Given the description of an element on the screen output the (x, y) to click on. 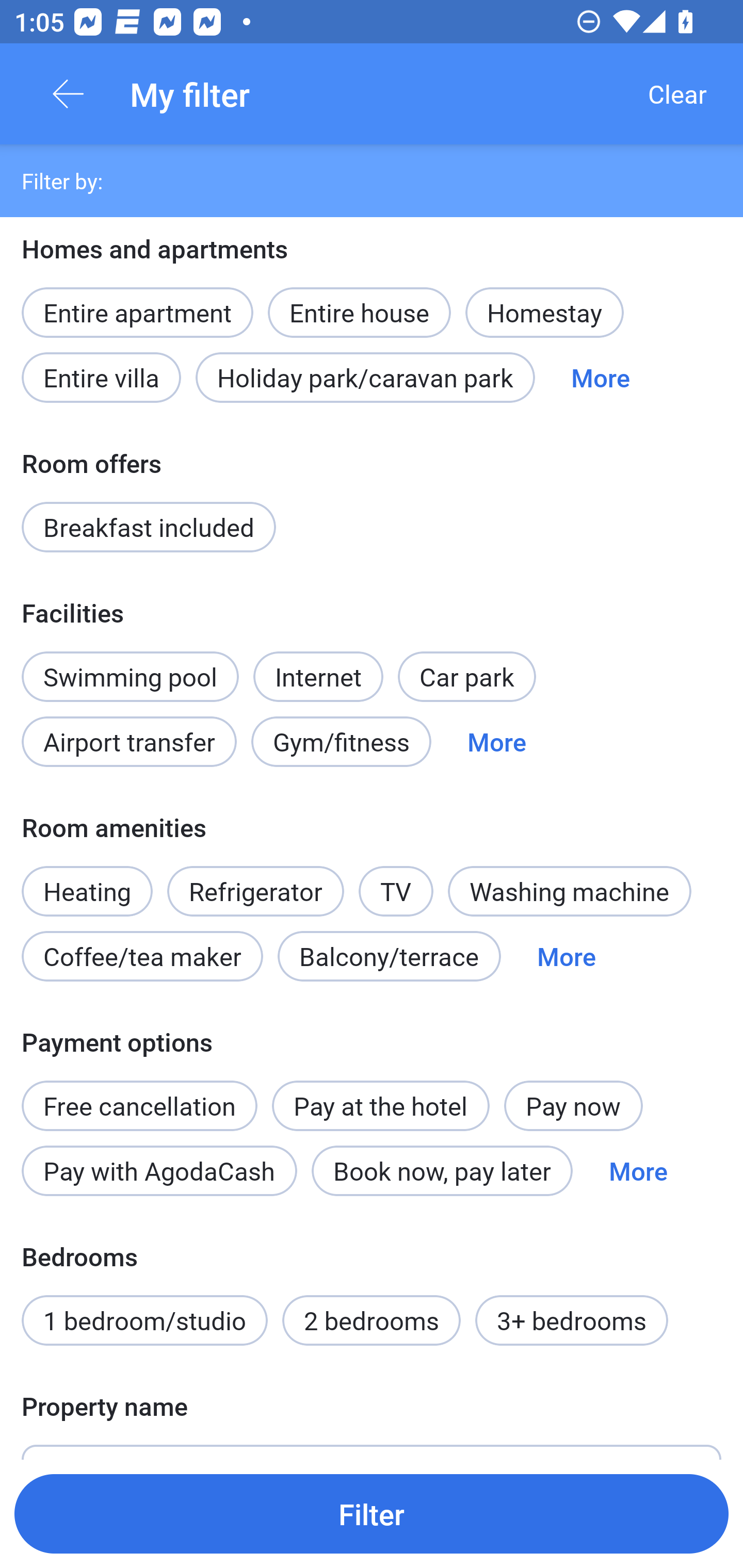
Clear (676, 93)
Entire apartment (137, 312)
Entire house (359, 301)
Homestay (544, 312)
Entire villa (101, 376)
Holiday park/caravan park (364, 376)
More (600, 376)
Breakfast included (148, 527)
Swimming pool (130, 676)
Internet (318, 665)
Car park (466, 676)
Airport transfer (129, 741)
Gym/fitness (341, 741)
More (496, 741)
Heating (87, 880)
Refrigerator (255, 891)
TV (395, 880)
Washing machine (569, 891)
Coffee/tea maker (142, 956)
Balcony/terrace (388, 956)
More (566, 956)
Free cancellation (139, 1095)
Pay at the hotel (380, 1106)
Pay now (572, 1106)
Pay with AgodaCash (159, 1170)
Book now, pay later (441, 1170)
More (637, 1170)
1 bedroom/studio (144, 1320)
2 bedrooms (371, 1320)
3+ bedrooms (571, 1320)
Filter (371, 1513)
